Given the description of an element on the screen output the (x, y) to click on. 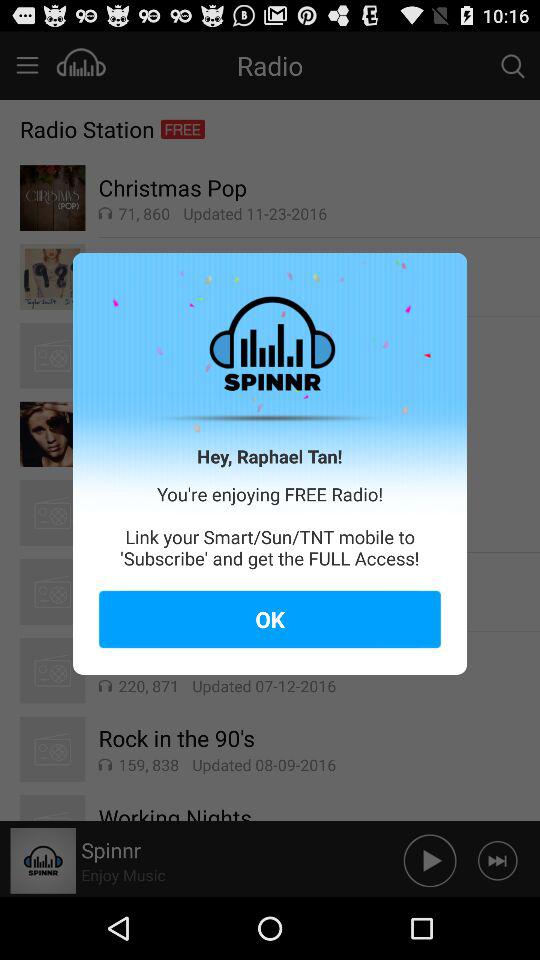
select item below you re enjoying icon (269, 619)
